Given the description of an element on the screen output the (x, y) to click on. 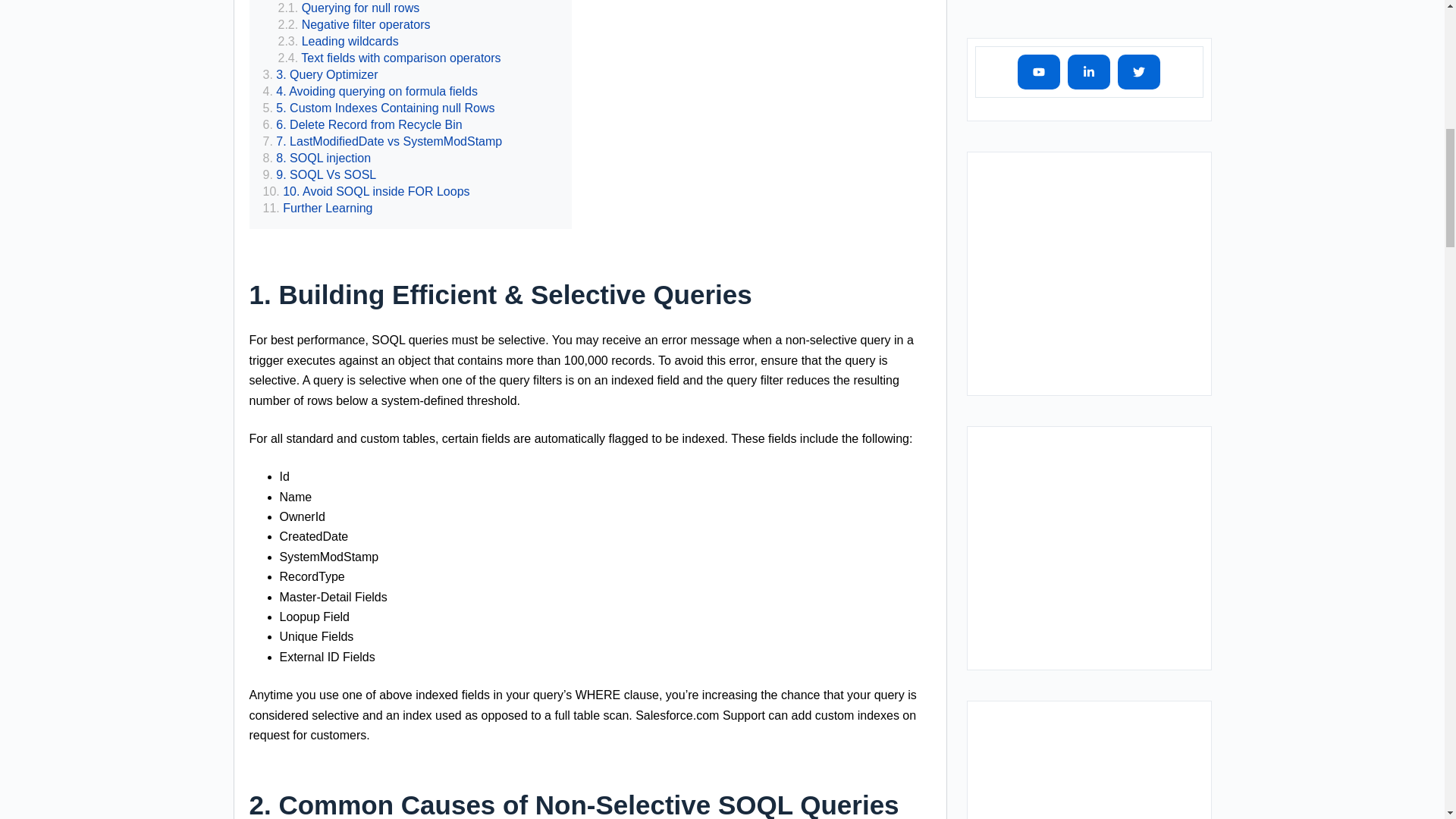
4. Avoiding querying on formula fields (369, 91)
8. SOQL injection (316, 158)
3. Query Optimizer (319, 74)
9. SOQL Vs SOSL (318, 175)
6. Delete Record from Recycle Bin (361, 125)
Querying for null rows (348, 8)
5. Custom Indexes Containing null Rows (378, 108)
Leading wildcards (337, 41)
Text fields with comparison operators (389, 57)
10. Avoid SOQL inside FOR Loops (365, 191)
Negative filter operators (353, 24)
7. LastModifiedDate vs SystemModStamp (382, 141)
